Given the description of an element on the screen output the (x, y) to click on. 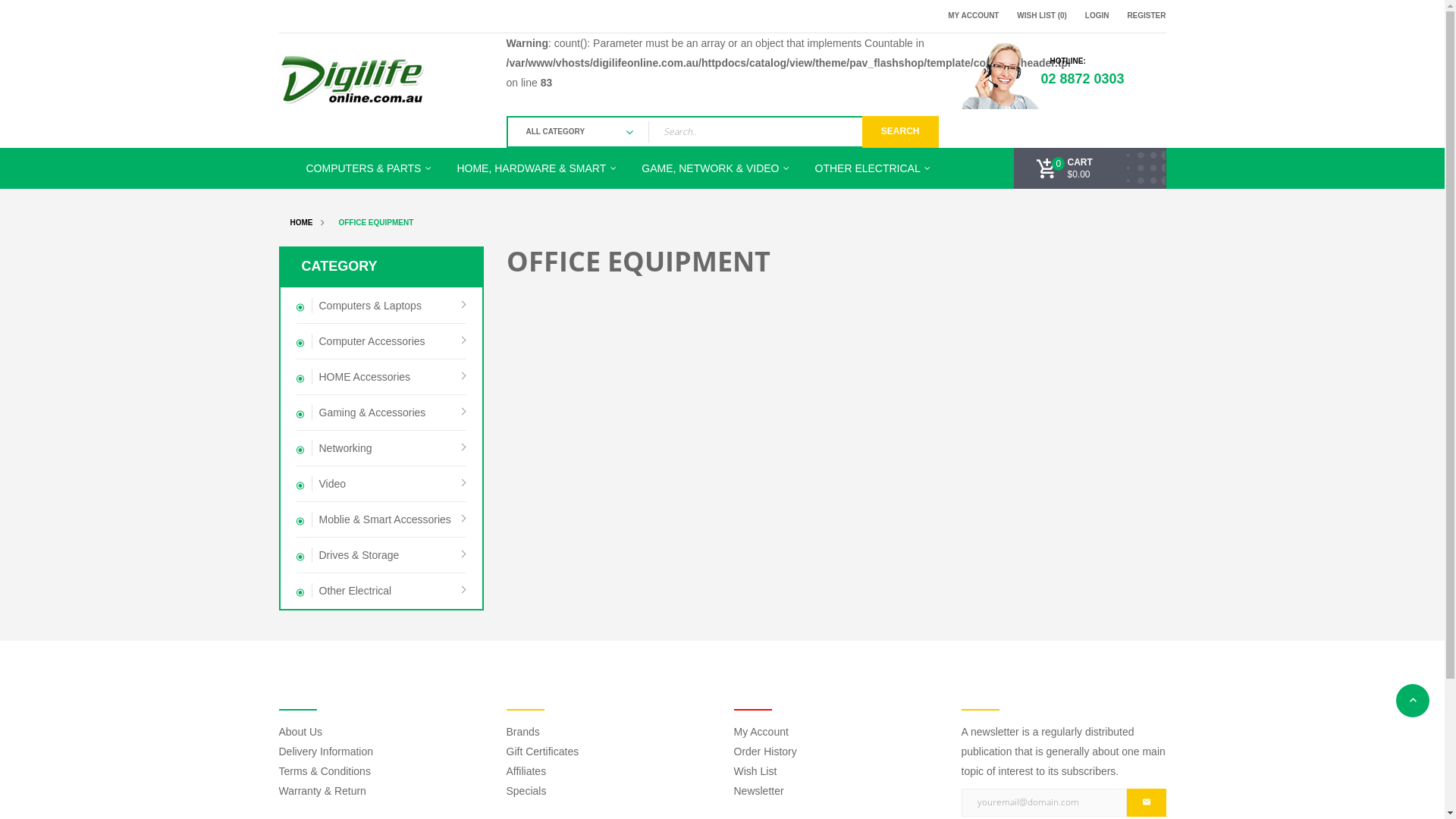
Other Electrical Element type: text (380, 590)
Computers & Laptops Element type: text (380, 305)
MY ACCOUNT Element type: text (972, 16)
SEARCH Element type: text (900, 131)
CART
0
$0.00 Element type: text (1064, 168)
WISH LIST (0) Element type: text (1041, 16)
Digilife Online Pty Ltd Element type: hover (353, 77)
Drives & Storage Element type: text (380, 555)
REGISTER Element type: text (1145, 16)
Wish List Element type: text (755, 771)
Terms & Conditions Element type: text (324, 771)
Newsletter Element type: text (759, 790)
Networking Element type: text (380, 448)
GAME, NETWORK & VIDEO Element type: text (716, 168)
OFFICE EQUIPMENT Element type: text (375, 222)
Delivery Information Element type: text (326, 751)
Computer Accessories Element type: text (380, 341)
Affiliates Element type: text (526, 771)
Brands Element type: text (522, 731)
Warranty & Return Element type: text (322, 790)
OTHER ELECTRICAL Element type: text (873, 168)
About Us Element type: text (301, 731)
Order History Element type: text (765, 751)
Gaming & Accessories Element type: text (380, 412)
Video Element type: text (380, 484)
Specials Element type: text (526, 790)
HOME Accessories Element type: text (380, 377)
COMPUTERS & PARTS Element type: text (369, 168)
Moblie & Smart Accessories Element type: text (380, 519)
Gift Certificates Element type: text (542, 751)
HOME Element type: text (300, 222)
HOME, HARDWARE & SMART Element type: text (537, 168)
My Account Element type: text (761, 731)
LOGIN Element type: text (1097, 16)
